Given the description of an element on the screen output the (x, y) to click on. 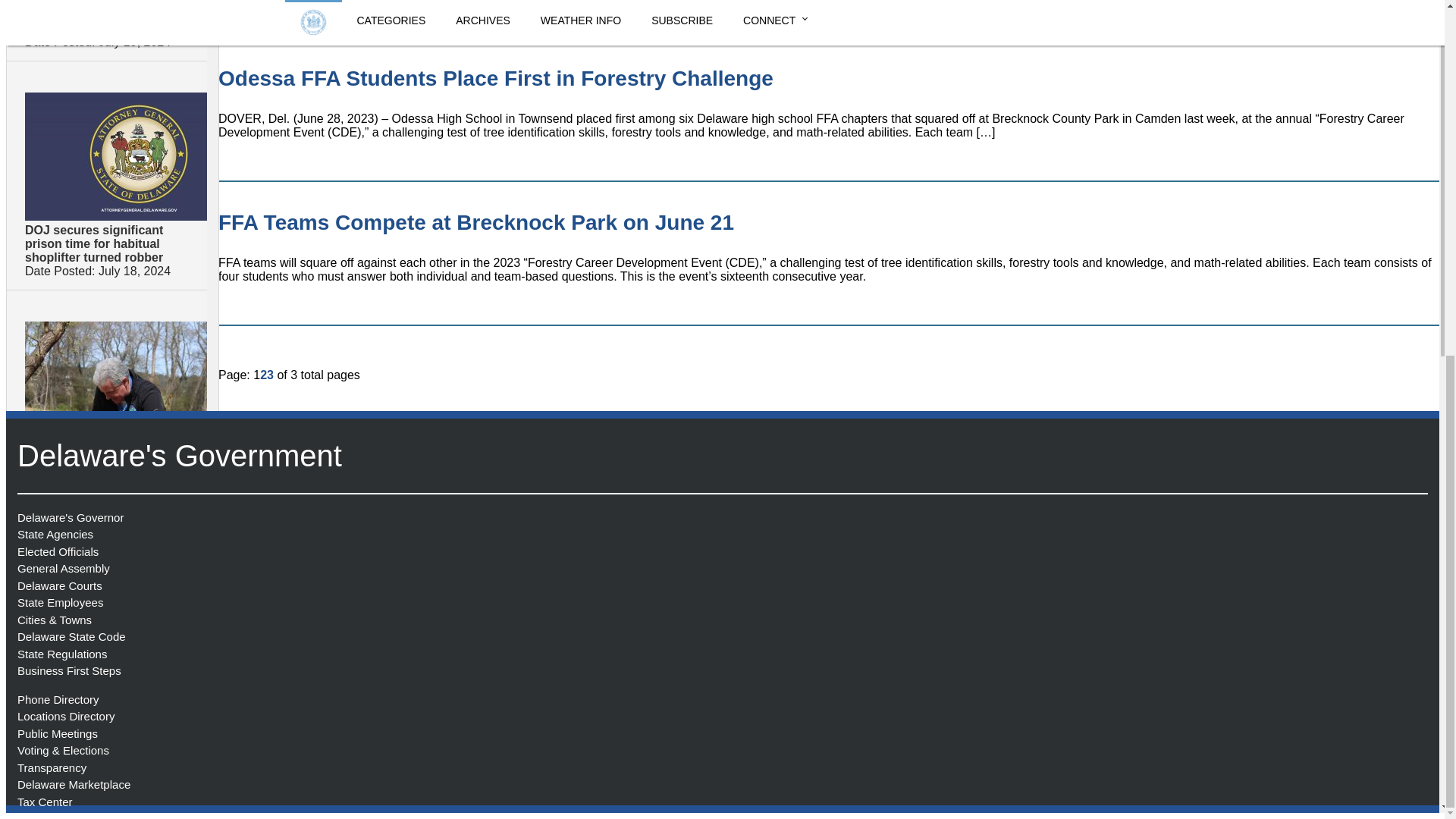
Fire Commission Releases New Updates for EMS Protocols (101, 17)
Application Period for Tree-Planting Project Funding Open (104, 572)
